Given the description of an element on the screen output the (x, y) to click on. 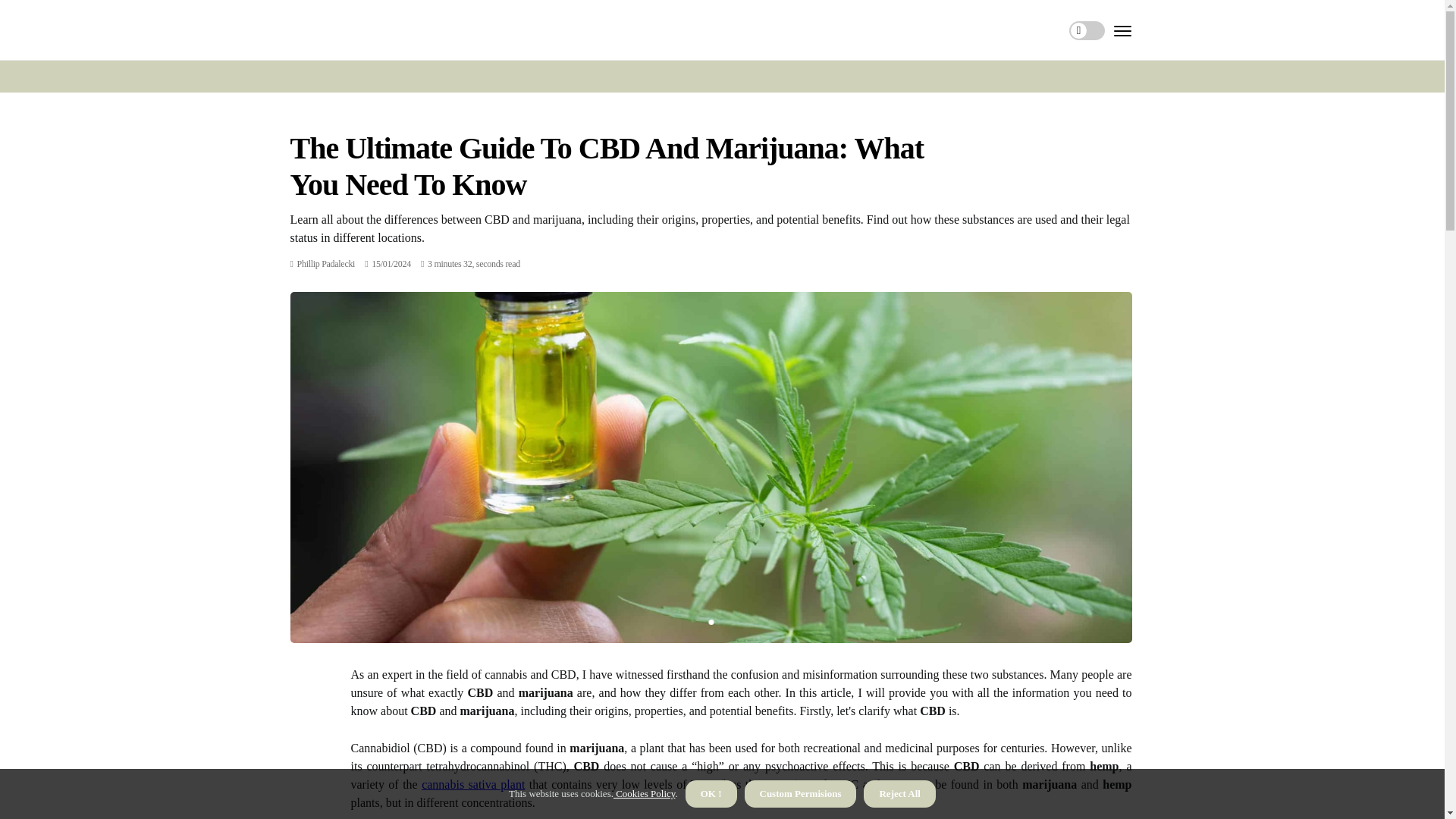
Posts by Phillip Padalecki (326, 263)
cannabis sativa plant (473, 784)
Phillip Padalecki (326, 263)
1 (710, 621)
